Given the description of an element on the screen output the (x, y) to click on. 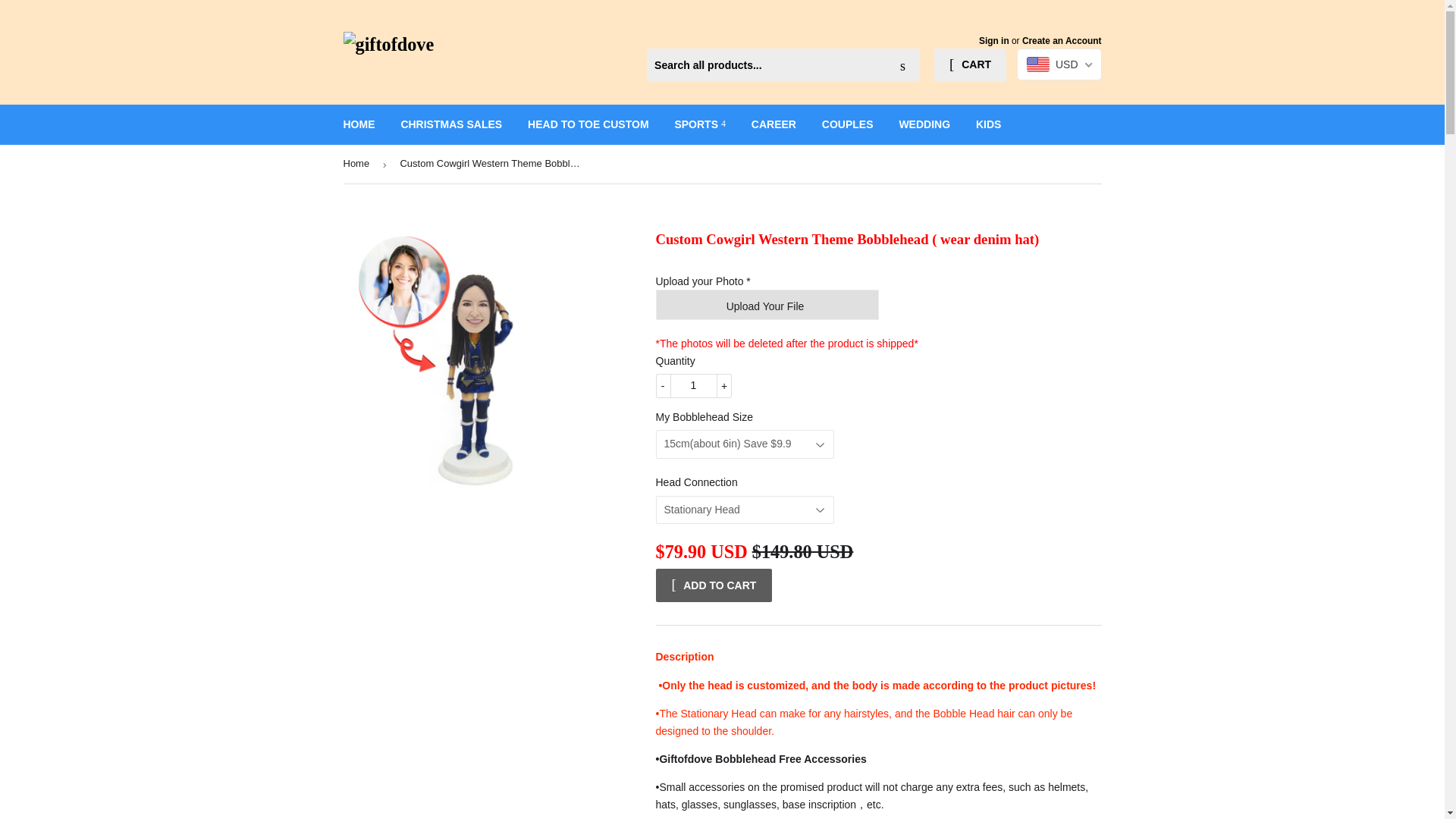
KIDS (987, 124)
CAREER (773, 124)
HOME (359, 124)
HEAD TO TOE CUSTOM (587, 124)
1 (692, 385)
Search (902, 65)
Sign in (993, 40)
CART (970, 64)
WEDDING (923, 124)
COUPLES (847, 124)
Create an Account (1062, 40)
SPORTS (699, 124)
CHRISTMAS SALES (450, 124)
